Given the description of an element on the screen output the (x, y) to click on. 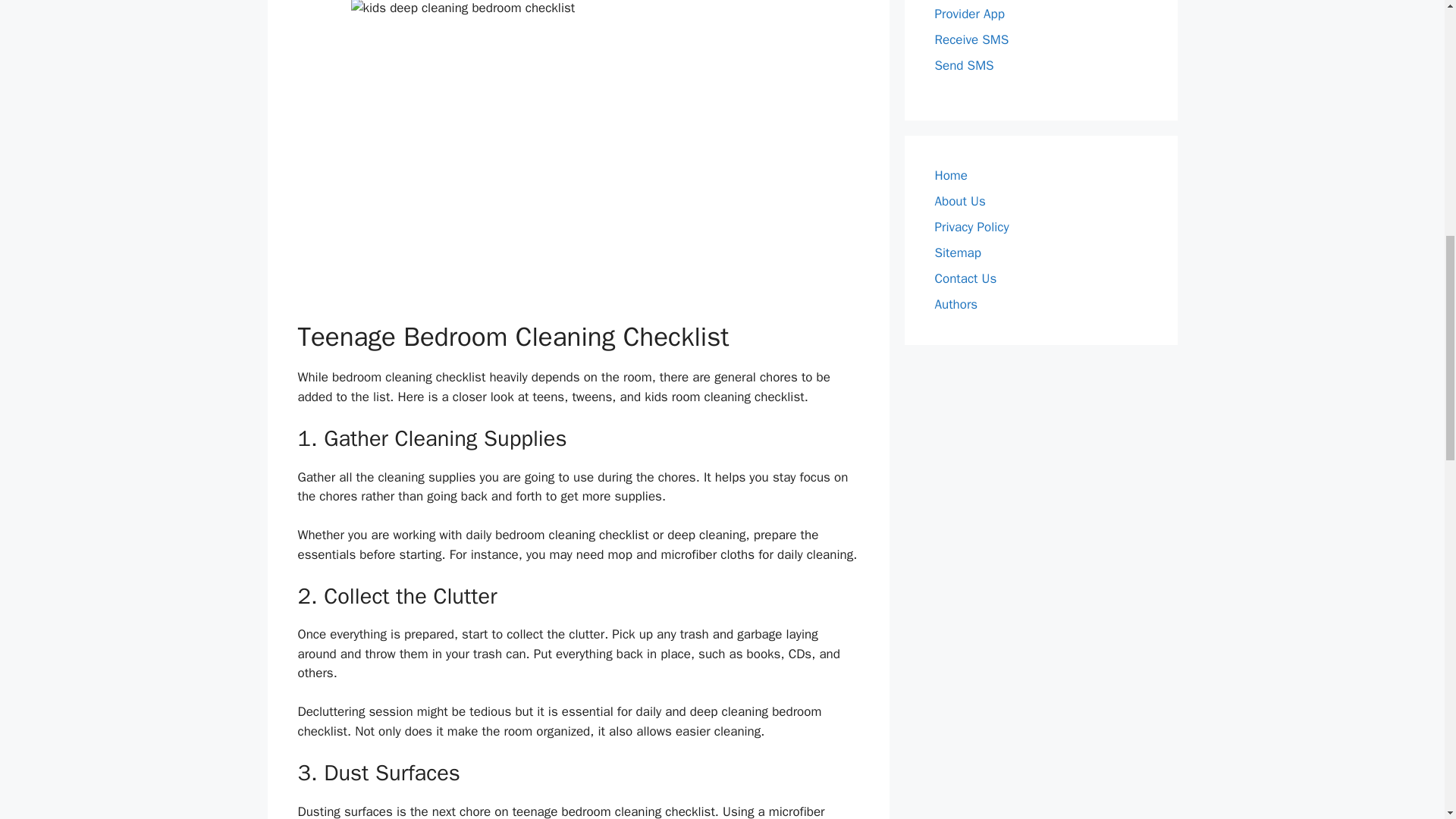
Send SMS (963, 65)
Provider App (969, 13)
Receive SMS (971, 39)
